Given the description of an element on the screen output the (x, y) to click on. 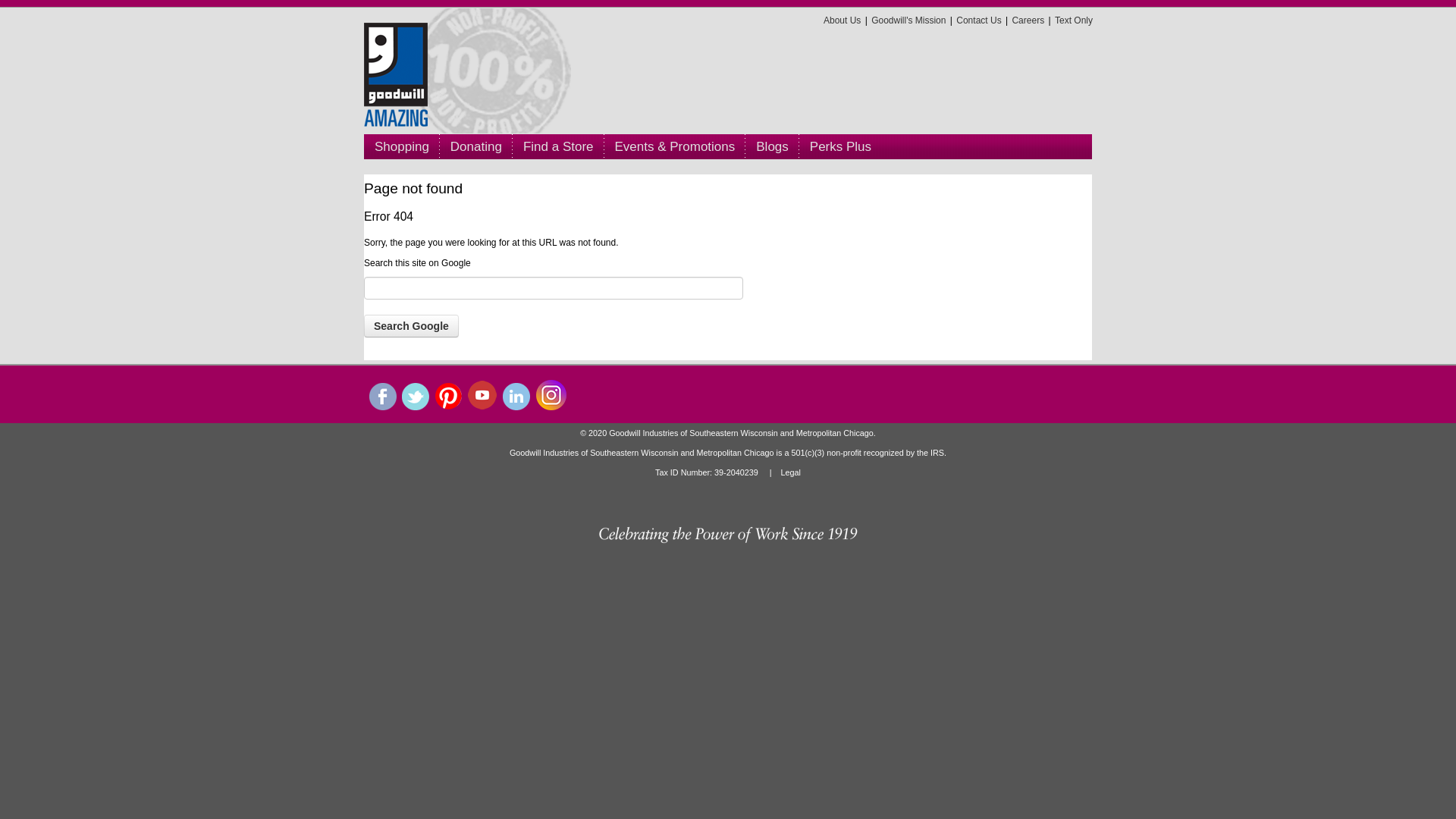
Blogs (772, 146)
About Us (842, 20)
Text Only (1073, 20)
Find a Store (558, 146)
Shopping (401, 146)
Donating (475, 146)
Goodwill's Mission (907, 20)
Careers (1027, 20)
Perks Plus (840, 146)
Contact Us (978, 20)
